Given the description of an element on the screen output the (x, y) to click on. 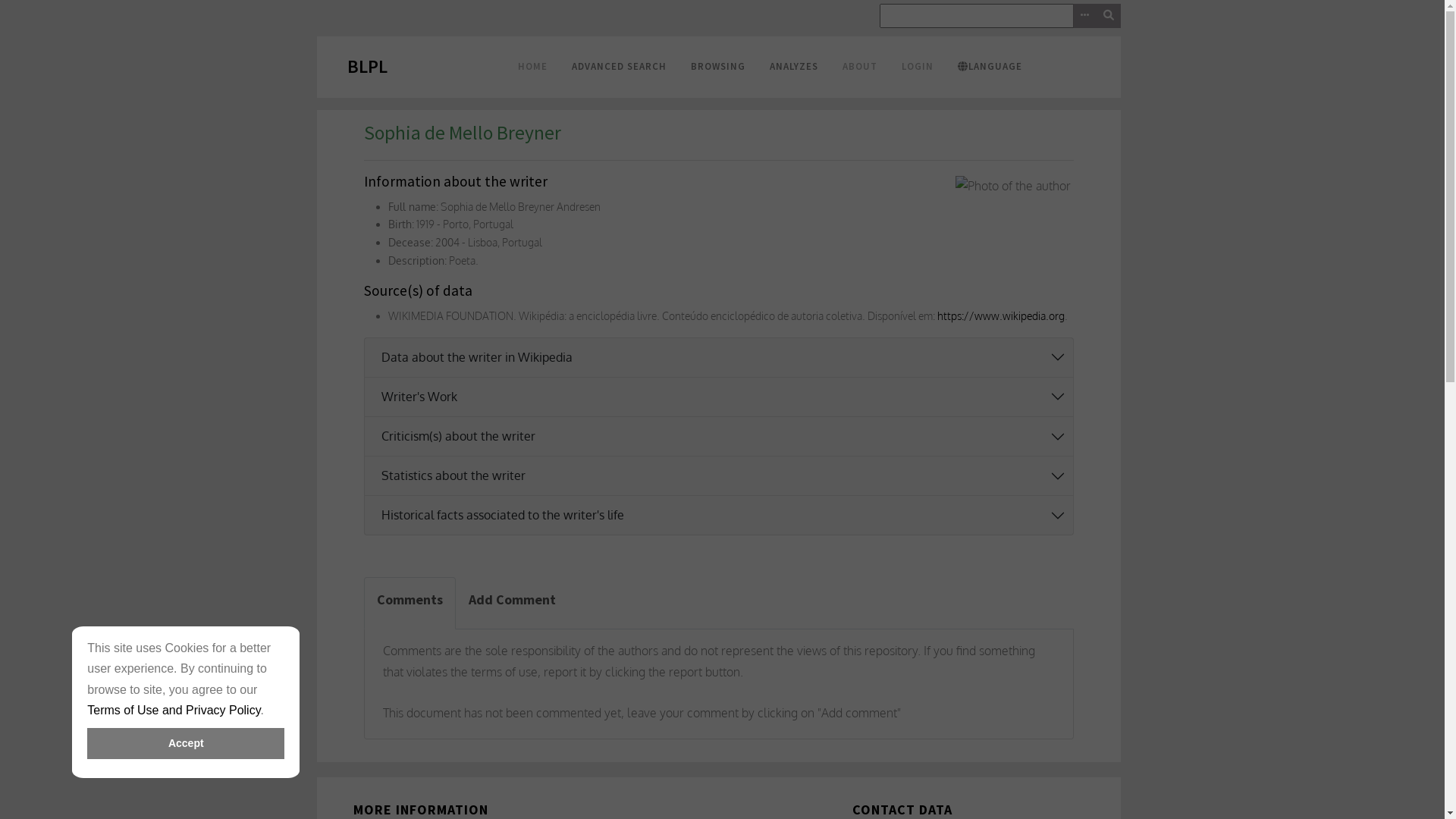
https://www.wikipedia.org Element type: text (1000, 315)
ADVANCED SEARCH Element type: text (618, 66)
Add Comment Element type: text (511, 603)
Search Element type: text (1108, 15)
Data about the writer in Wikipedia Element type: text (722, 357)
Criticism(s) about the writer Element type: text (722, 436)
Advanced Search Element type: text (1084, 15)
LANGUAGE Element type: text (989, 66)
Historical facts associated to the writer's life Element type: text (722, 515)
BROWSING Element type: text (717, 66)
Statistics about the writer Element type: text (722, 475)
Comments Element type: text (409, 603)
Pesquisar Element type: hover (999, 15)
ABOUT Element type: text (859, 66)
HOME Element type: text (532, 66)
ANALYZES Element type: text (793, 66)
LOGIN Element type: text (917, 66)
Terms of Use and Privacy Policy Element type: text (173, 709)
Writer's Work Element type: text (722, 396)
BLPL Element type: text (367, 65)
Accept Element type: text (185, 743)
